Given the description of an element on the screen output the (x, y) to click on. 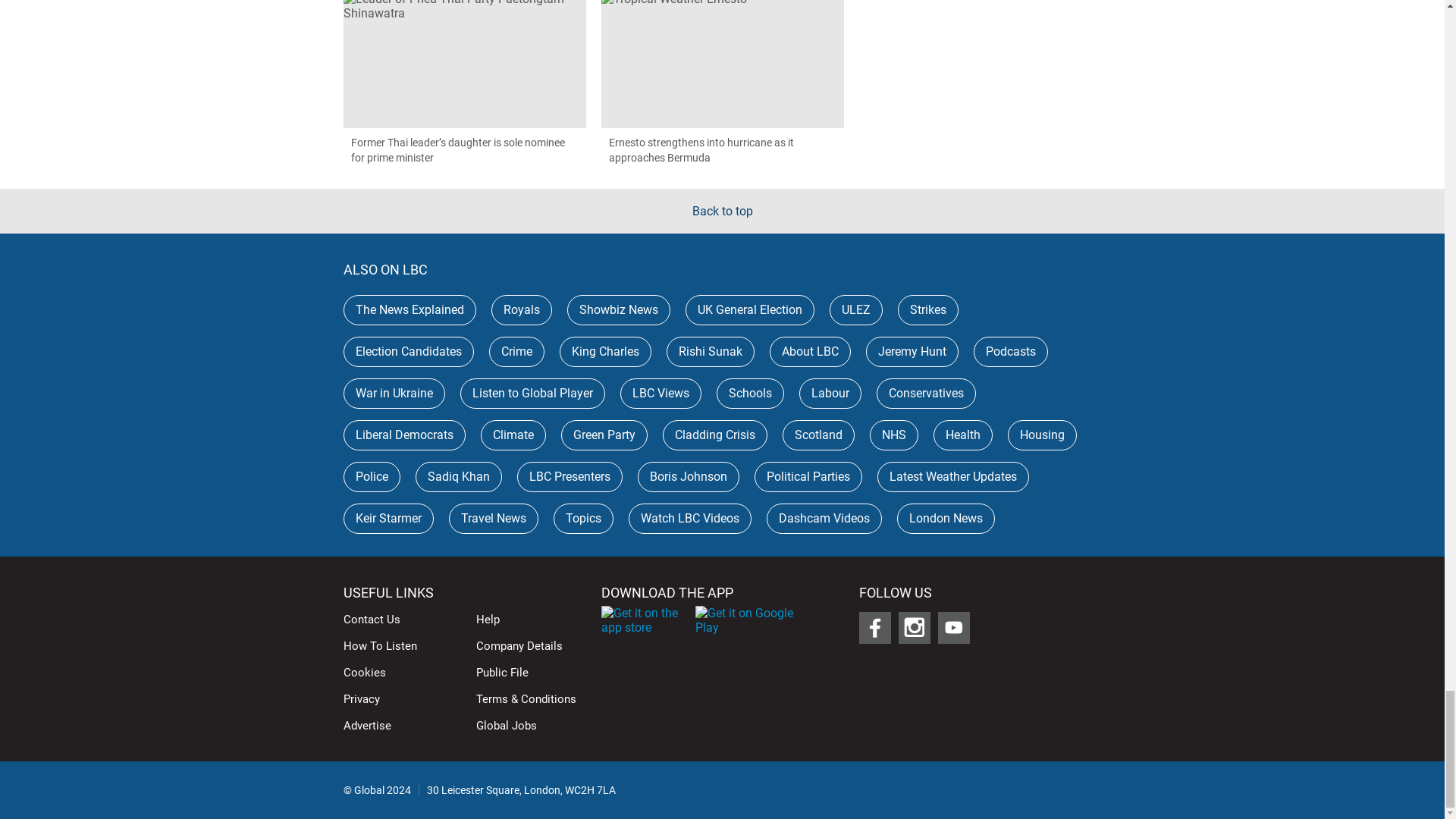
Follow LBC on Youtube (953, 627)
Follow LBC on Instagram (914, 627)
Follow LBC on Facebook (874, 627)
Back to top (721, 210)
